Given the description of an element on the screen output the (x, y) to click on. 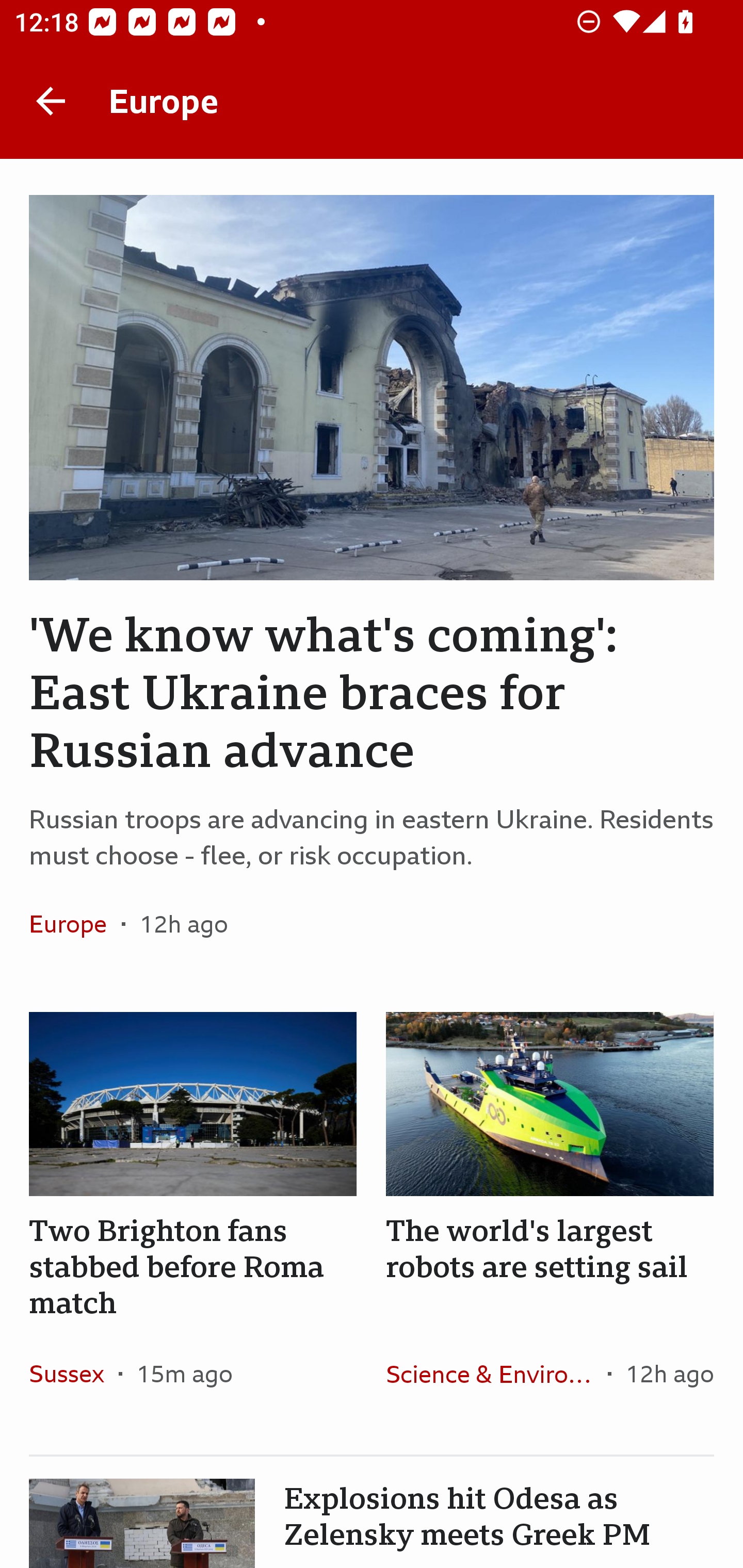
Back (50, 101)
Europe In the section Europe (74, 923)
Sussex In the section Sussex (73, 1373)
